Given the description of an element on the screen output the (x, y) to click on. 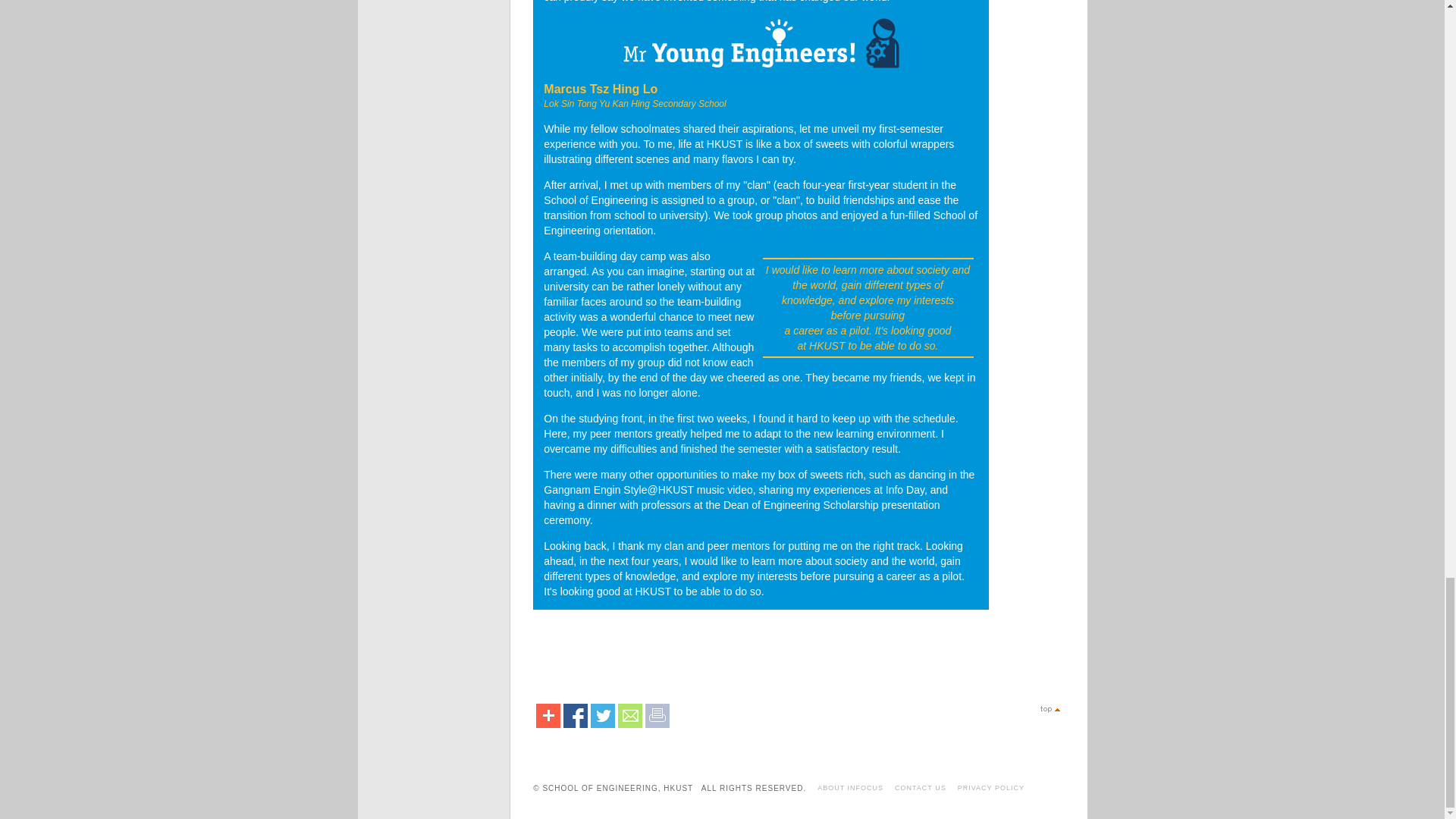
PRIVACY POLICY (991, 787)
ABOUT INFOCUS (849, 787)
CONTACT US (920, 787)
